Given the description of an element on the screen output the (x, y) to click on. 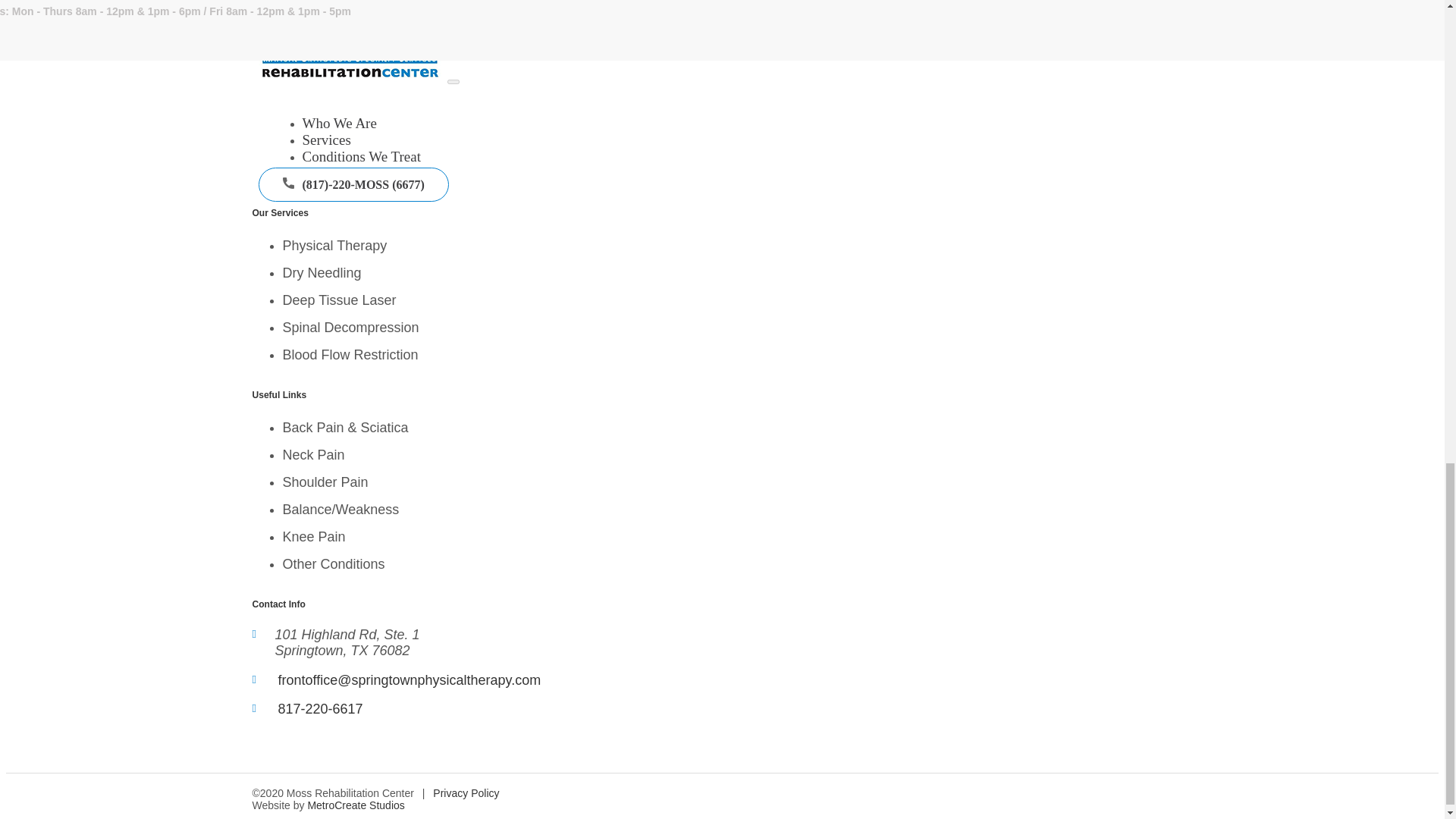
Knee Pain (313, 536)
MetroCreate Studios (355, 805)
Neck Pain (312, 454)
Deep Tissue Laser (339, 299)
Blood Flow Restriction (349, 354)
817-220-6617 (320, 708)
Physical Therapy (334, 245)
Spinal Decompression (350, 327)
Dry Needling (321, 272)
Other Conditions (333, 563)
Shoulder Pain (325, 482)
Privacy Policy (465, 793)
